Given the description of an element on the screen output the (x, y) to click on. 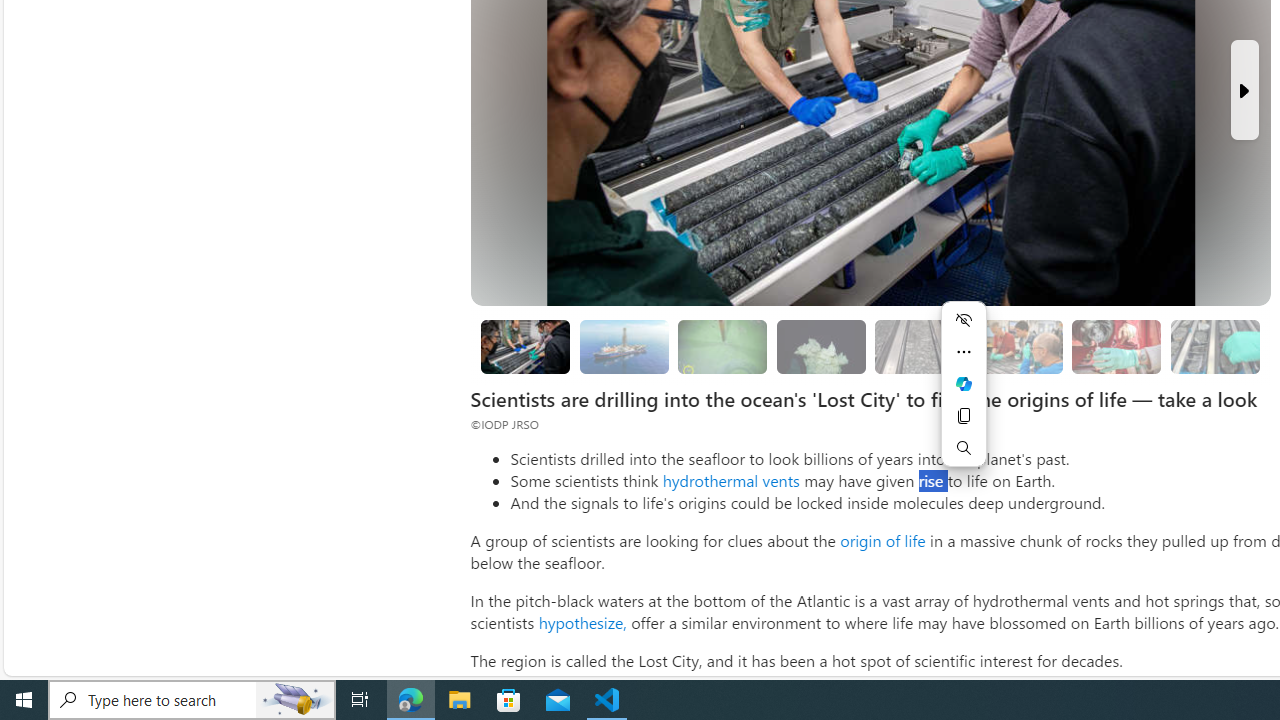
origin of life (882, 539)
Researchers are still studying the samples (1214, 346)
Hide menu (963, 319)
The Lost City could hold clues to the origin of life. (820, 346)
Looking for evidence of oxygen-free life (1017, 346)
Next Slide (1244, 89)
Ask Copilot (963, 383)
Class: progress (1214, 343)
Copy (963, 416)
The Lost City could hold clues to the origin of life. (820, 346)
Mini menu on text selection (963, 383)
